Given the description of an element on the screen output the (x, y) to click on. 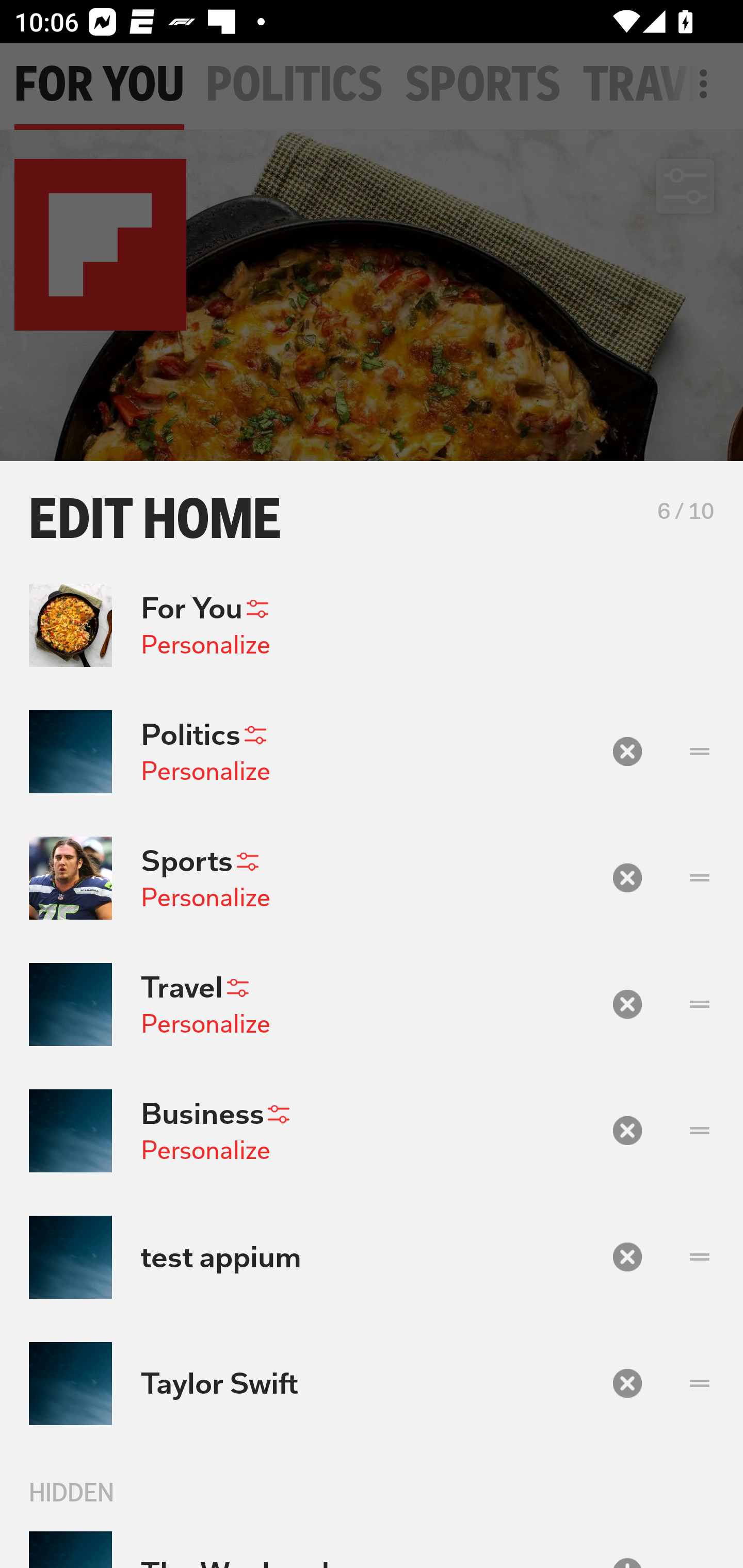
Personalize (205, 644)
Personalize (205, 771)
Personalize (205, 897)
Personalize (205, 1023)
Personalize (205, 1149)
